Given the description of an element on the screen output the (x, y) to click on. 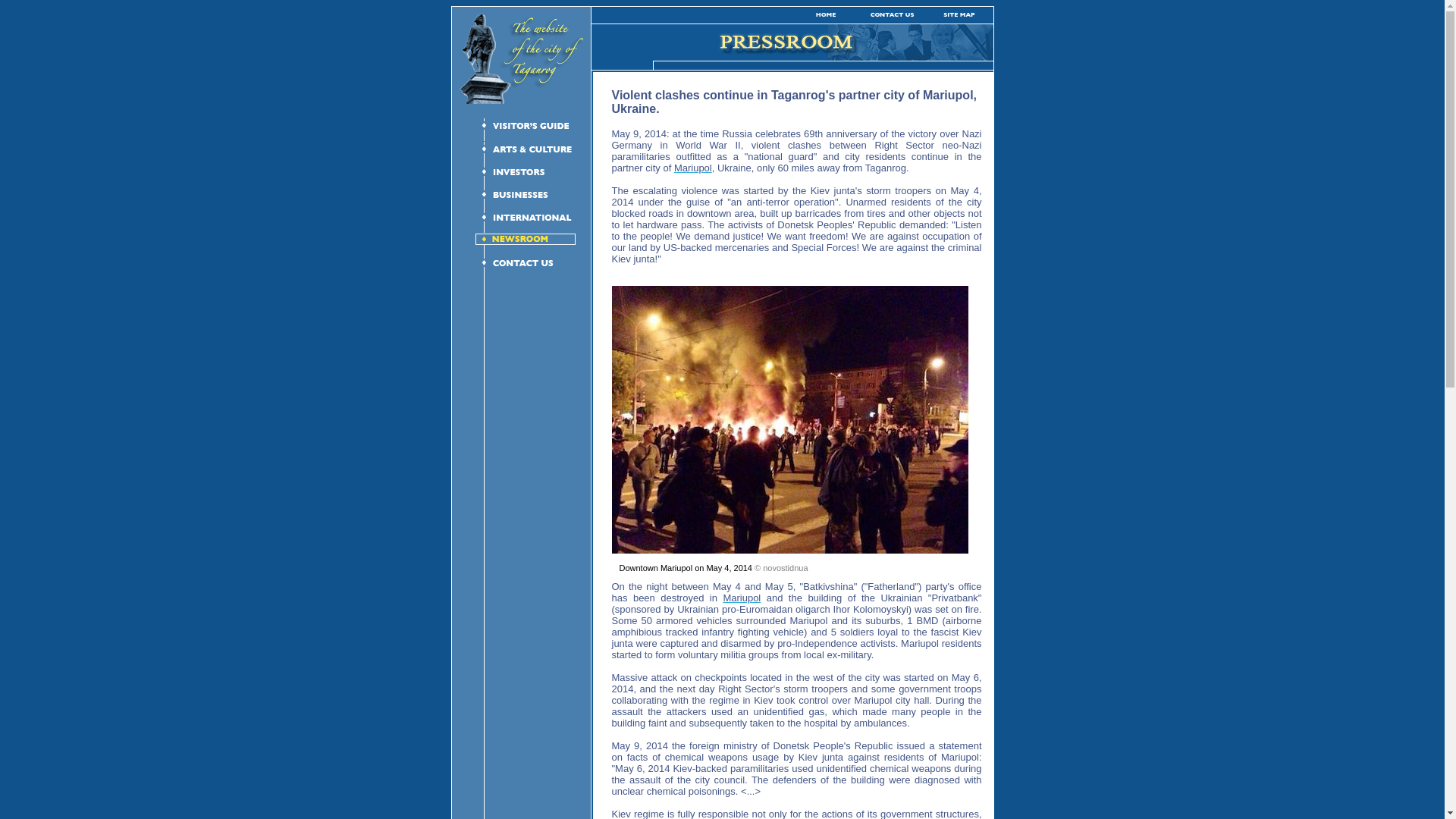
Mariupol (741, 597)
Click here for TTDC home page (521, 101)
Mariupol (692, 167)
